Given the description of an element on the screen output the (x, y) to click on. 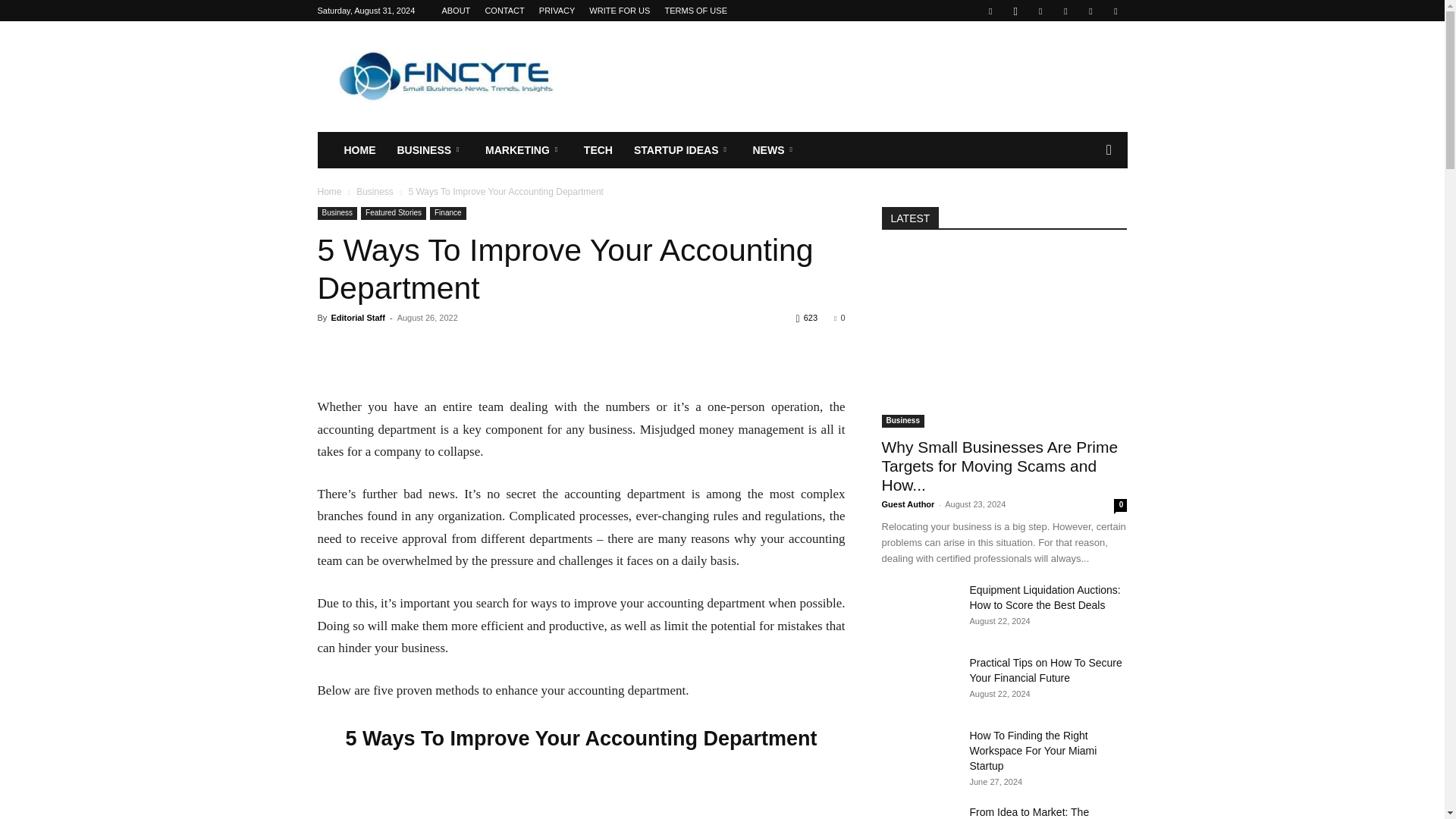
ABOUT (455, 10)
Facebook (989, 10)
PRIVACY (556, 10)
WRITE FOR US (619, 10)
CONTACT (504, 10)
Linkedin (1040, 10)
Pinterest (1065, 10)
TERMS OF USE (694, 10)
Instagram (1015, 10)
Twitter (1090, 10)
